Given the description of an element on the screen output the (x, y) to click on. 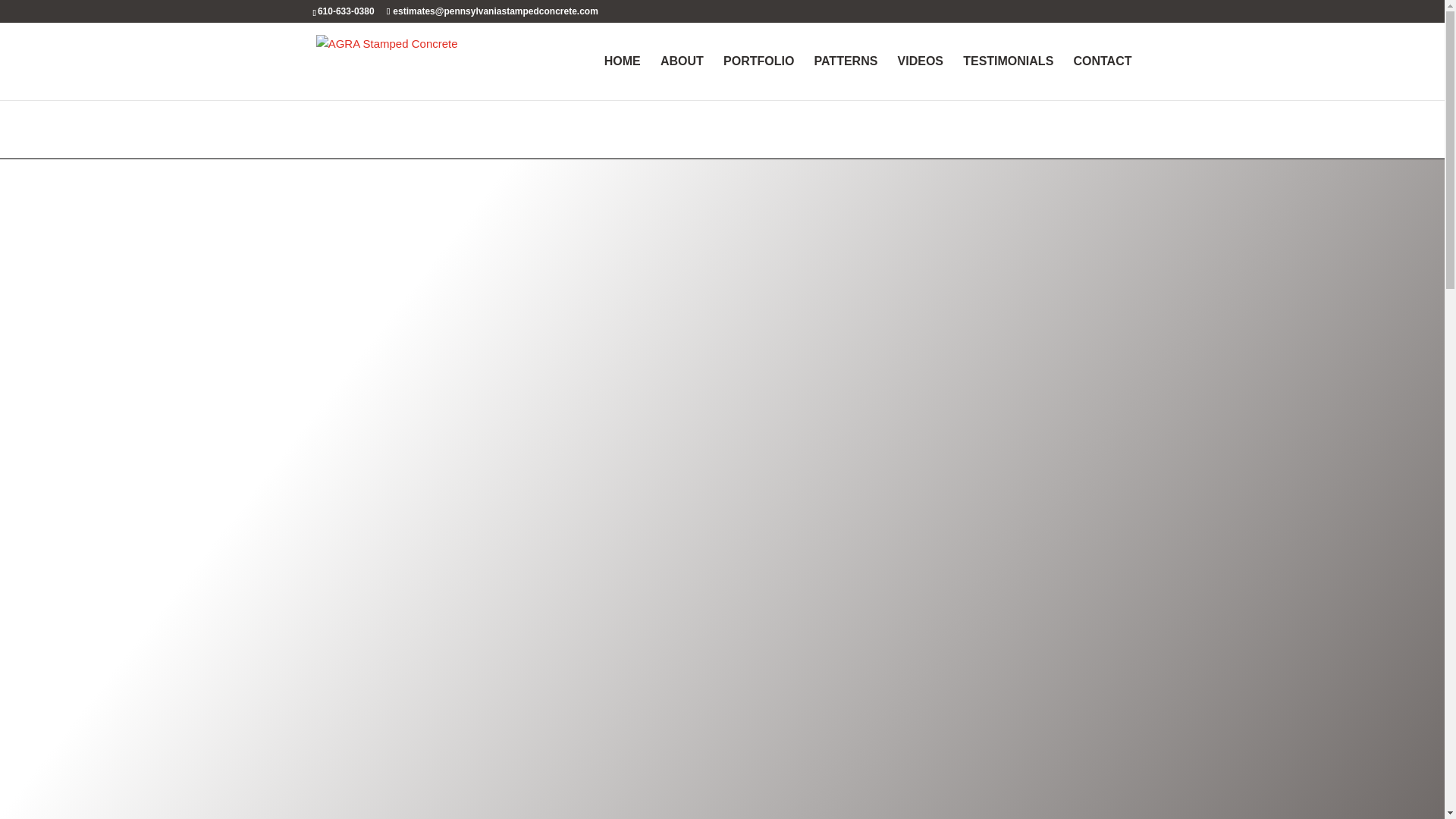
CONTACT (1102, 77)
VIDEOS (920, 77)
PATTERNS (845, 77)
ABOUT (682, 77)
PORTFOLIO (758, 77)
TESTIMONIALS (1007, 77)
